Given the description of an element on the screen output the (x, y) to click on. 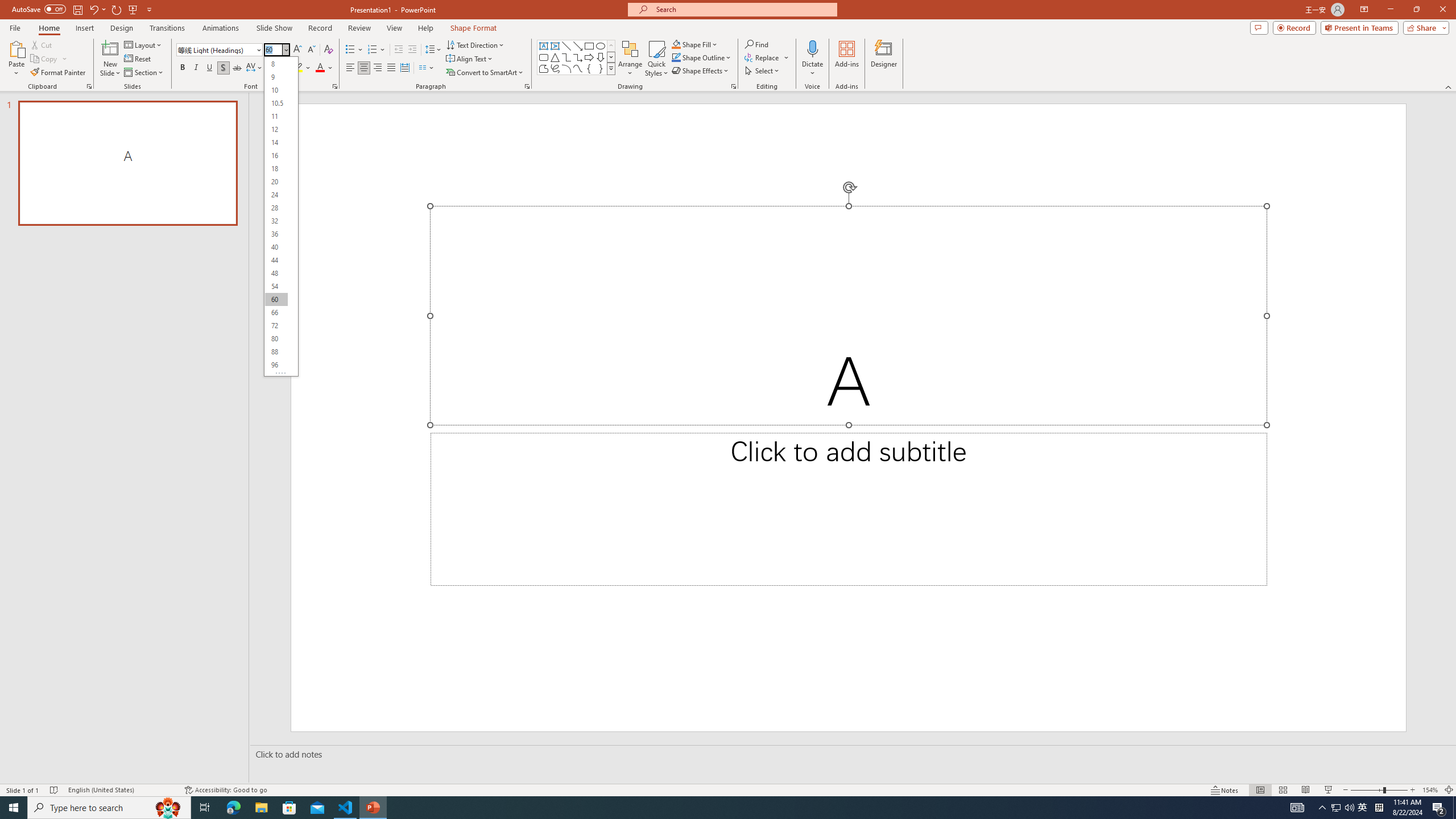
10 (276, 89)
Shape Effects (700, 69)
